Given the description of an element on the screen output the (x, y) to click on. 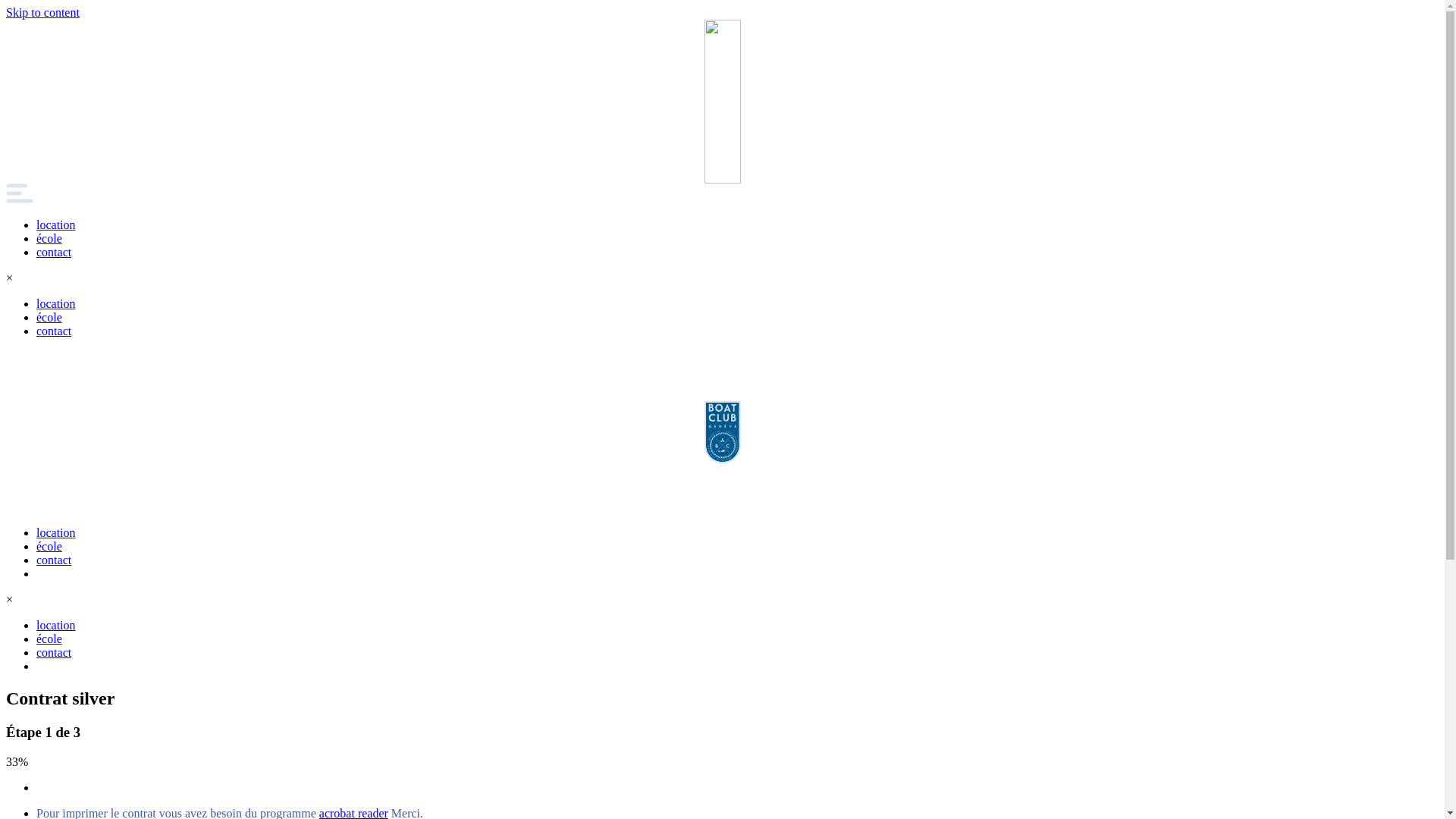
contact Element type: text (53, 652)
contact Element type: text (53, 559)
contact Element type: text (53, 251)
location Element type: text (55, 532)
location Element type: text (55, 303)
location Element type: text (55, 224)
Skip to content Element type: text (42, 12)
location Element type: text (55, 624)
contact Element type: text (53, 330)
